Given the description of an element on the screen output the (x, y) to click on. 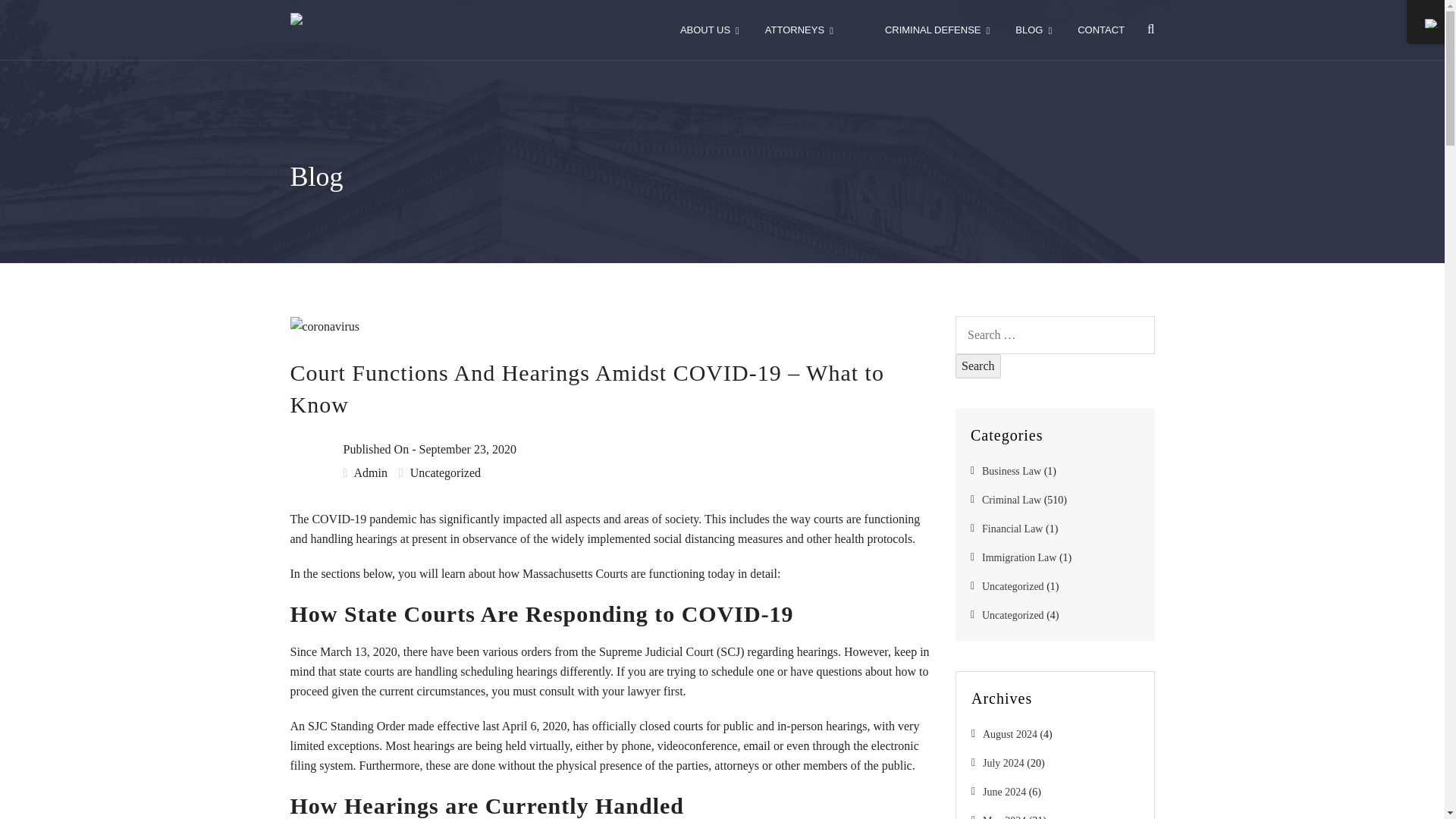
Search (978, 365)
ABOUT US (709, 29)
Search (978, 365)
CRIMINAL DEFENSE (937, 29)
ATTORNEYS (798, 29)
